Given the description of an element on the screen output the (x, y) to click on. 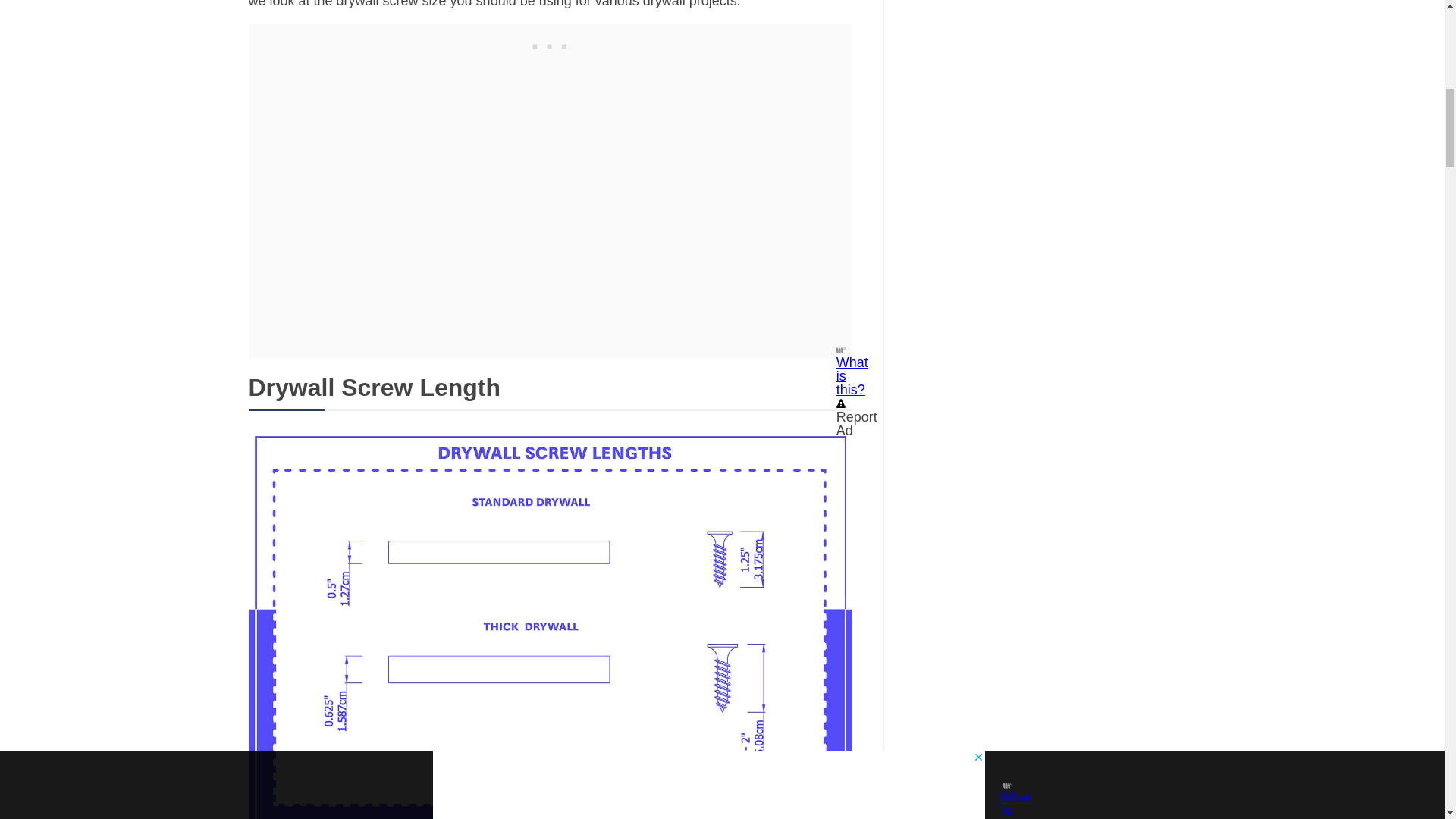
3rd party ad content (550, 43)
